Given the description of an element on the screen output the (x, y) to click on. 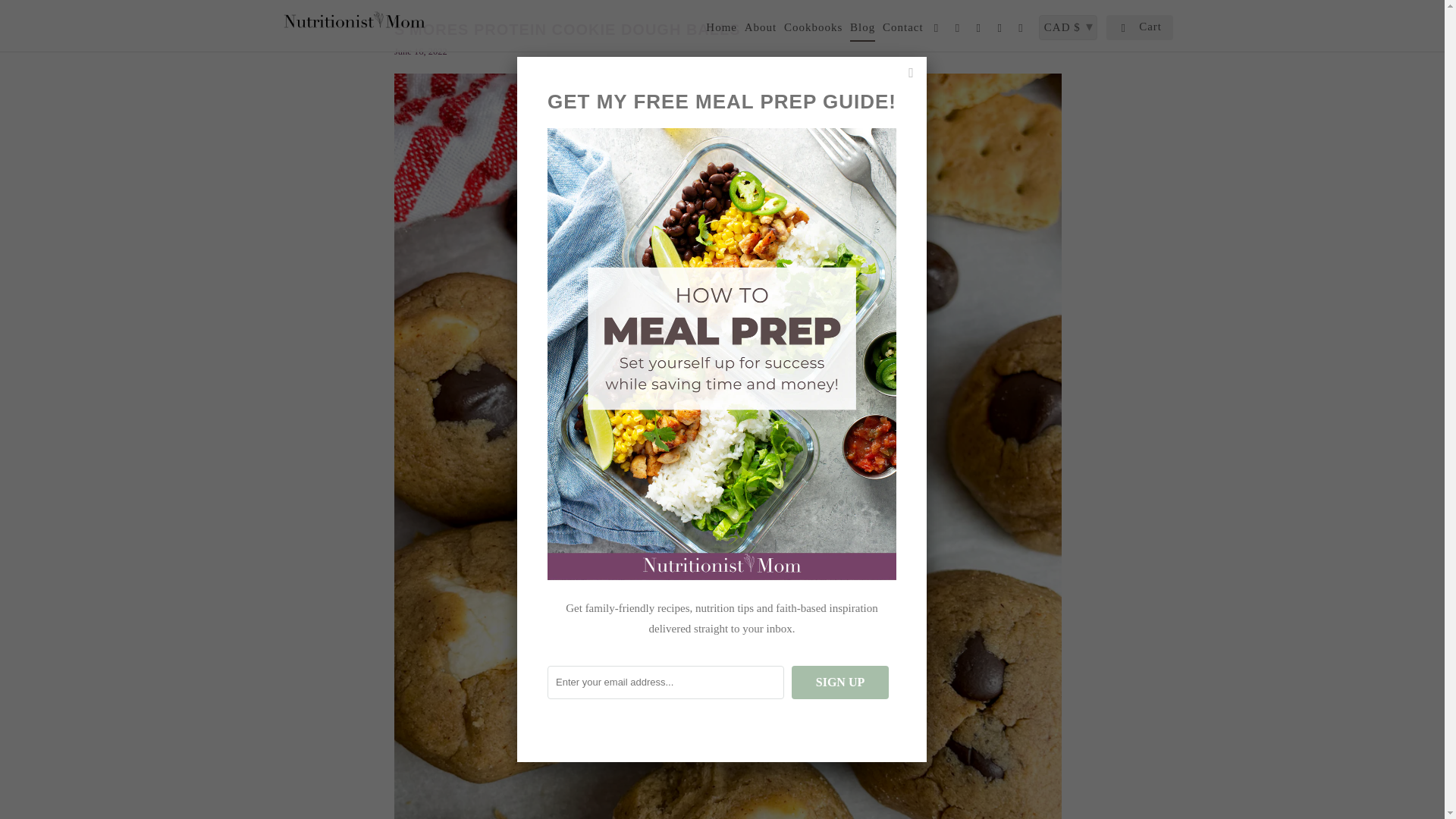
Sign Up (840, 682)
